Given the description of an element on the screen output the (x, y) to click on. 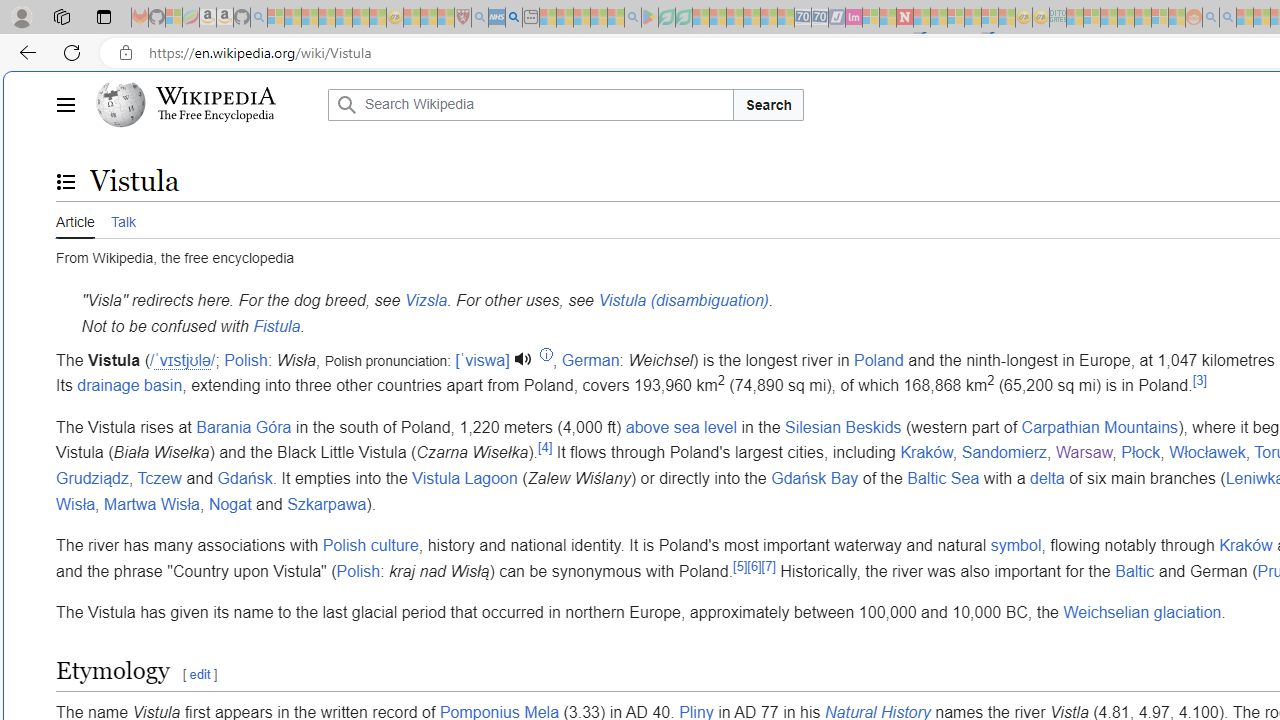
Wikipedia The Free Encyclopedia (206, 104)
[3] (1199, 380)
Szkarpawa (326, 503)
Poland (878, 359)
Fistula (276, 325)
Polish (358, 571)
Bluey: Let's Play! - Apps on Google Play - Sleeping (649, 17)
